Given the description of an element on the screen output the (x, y) to click on. 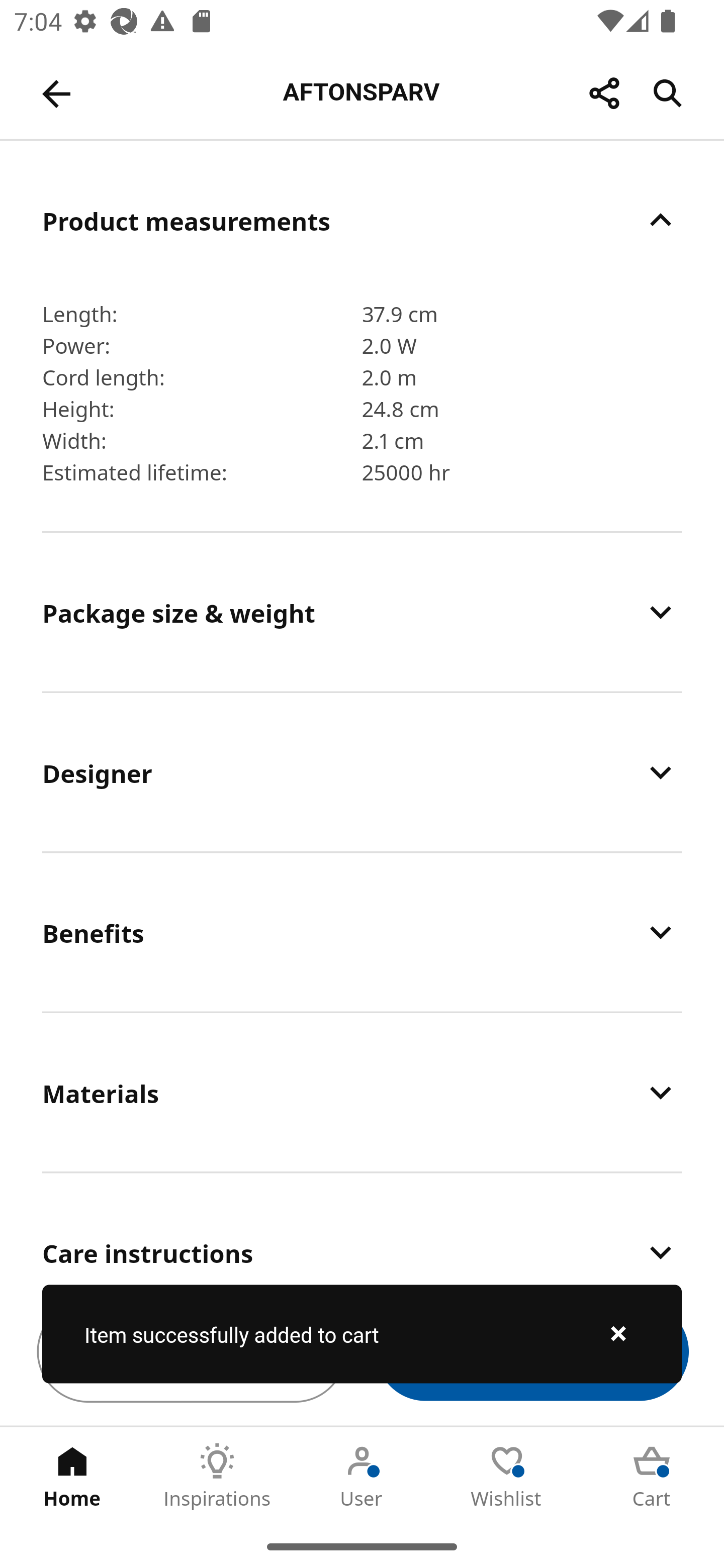
Product measurements (361, 219)
Package size & weight (361, 611)
Designer (361, 771)
Benefits (361, 931)
Materials (361, 1091)
Care instructions (361, 1225)
Item successfully added to cart (361, 1333)
Home
Tab 1 of 5 (72, 1476)
Inspirations
Tab 2 of 5 (216, 1476)
User
Tab 3 of 5 (361, 1476)
Wishlist
Tab 4 of 5 (506, 1476)
Cart
Tab 5 of 5 (651, 1476)
